Given the description of an element on the screen output the (x, y) to click on. 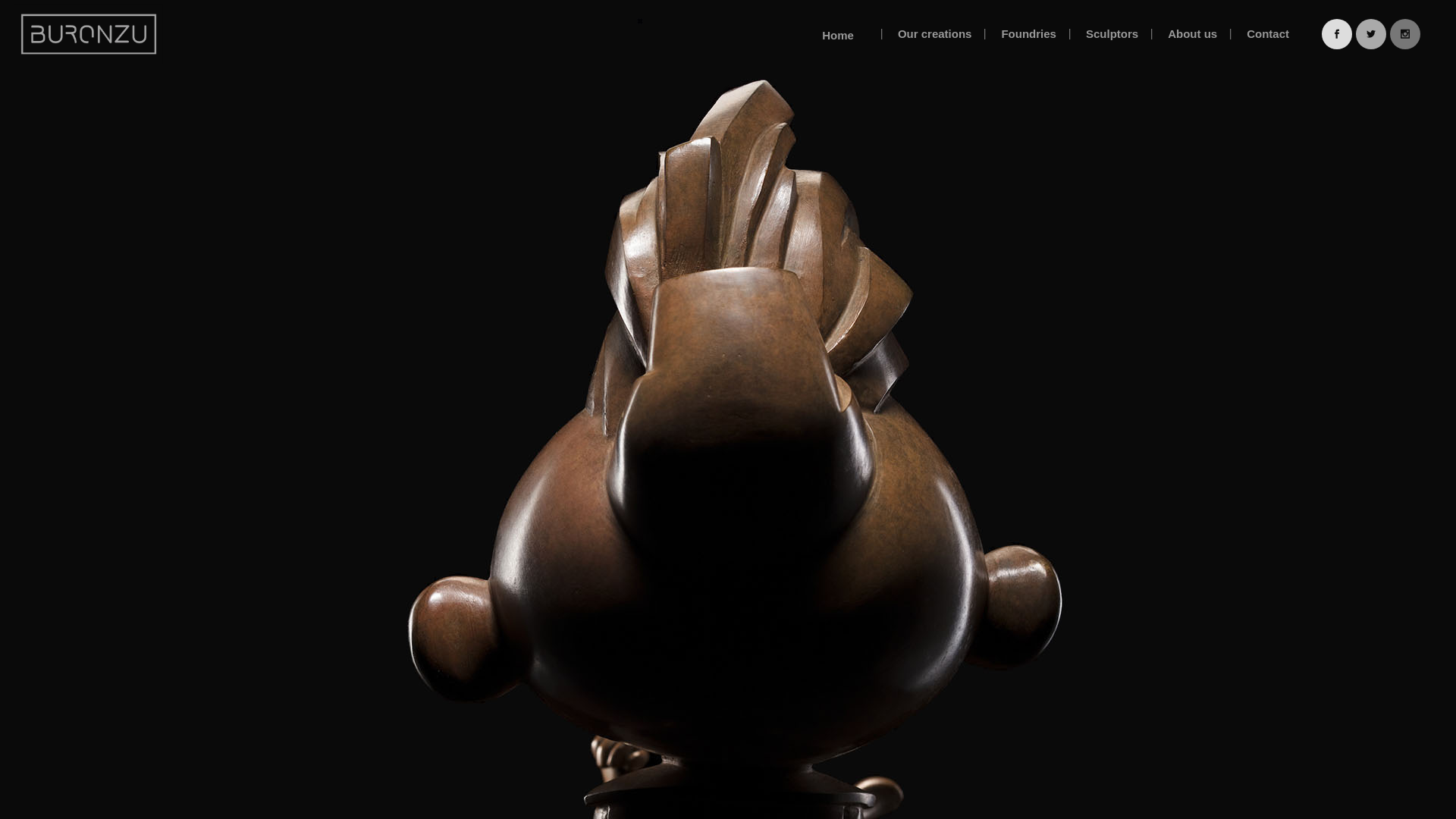
Contact Element type: text (1267, 34)
Our creations Element type: text (934, 34)
Sculptors Element type: text (1111, 34)
Foundries Element type: text (1028, 34)
About us Element type: text (1192, 34)
Home Element type: text (837, 34)
